Given the description of an element on the screen output the (x, y) to click on. 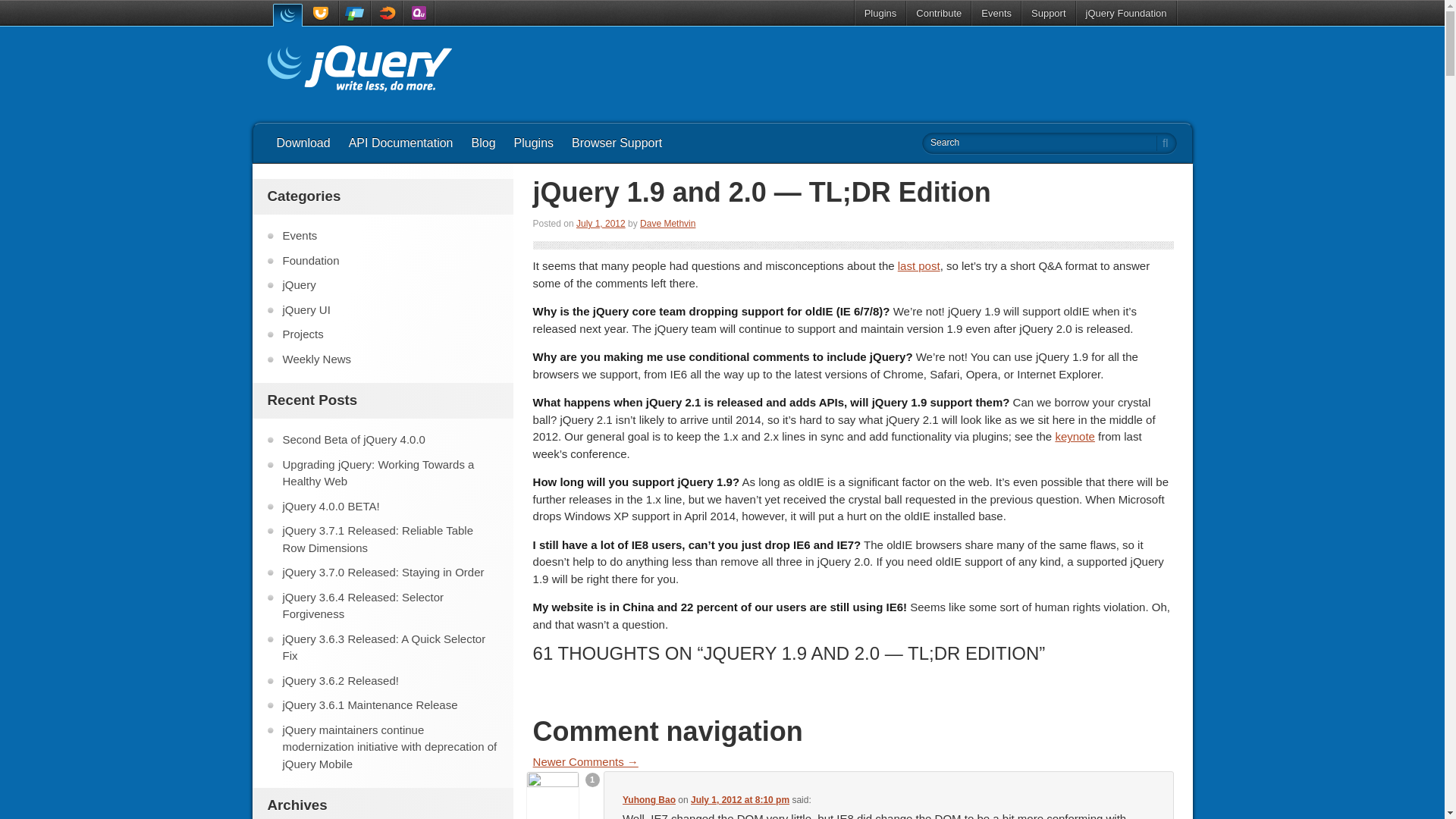
Plugins (533, 143)
Contribute (939, 12)
Events (996, 12)
jQuery UI (321, 12)
Official jQuery Blog (358, 70)
Browser Support (616, 143)
July 1, 2012 (601, 223)
QUnit (418, 12)
jQuery Mobile (354, 12)
Official jQuery Blog (358, 70)
